Given the description of an element on the screen output the (x, y) to click on. 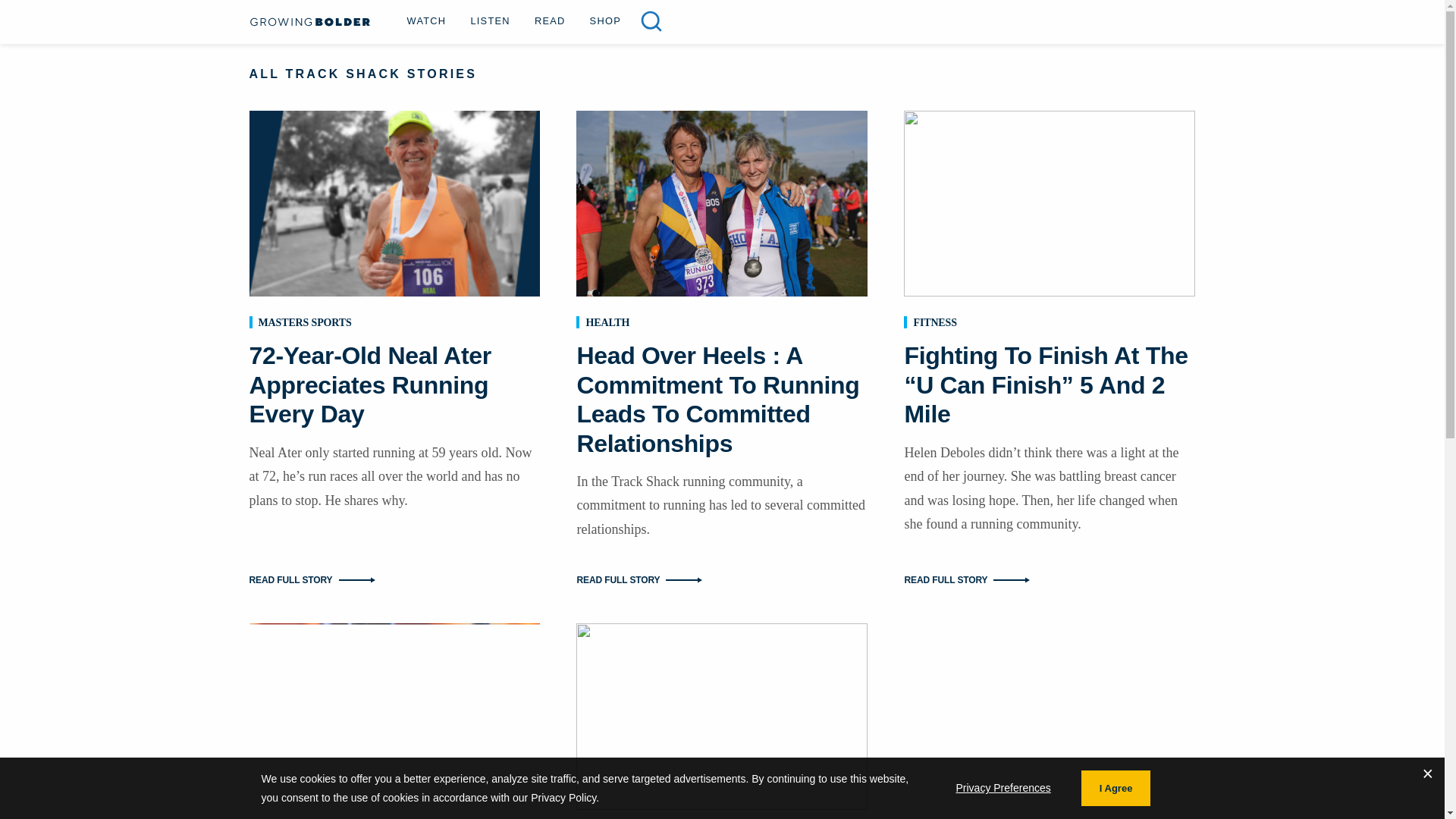
Search (651, 22)
Link to: Health (606, 322)
72-Year-Old Neal Ater Appreciates Running Every Day (369, 384)
WATCH (426, 20)
READ FULL STORY (721, 579)
Link to: Listen (489, 20)
Link to: 72-Year-Old Neal Ater Appreciates Running Every Day (369, 384)
SHOP (605, 20)
LISTEN (489, 20)
